Given the description of an element on the screen output the (x, y) to click on. 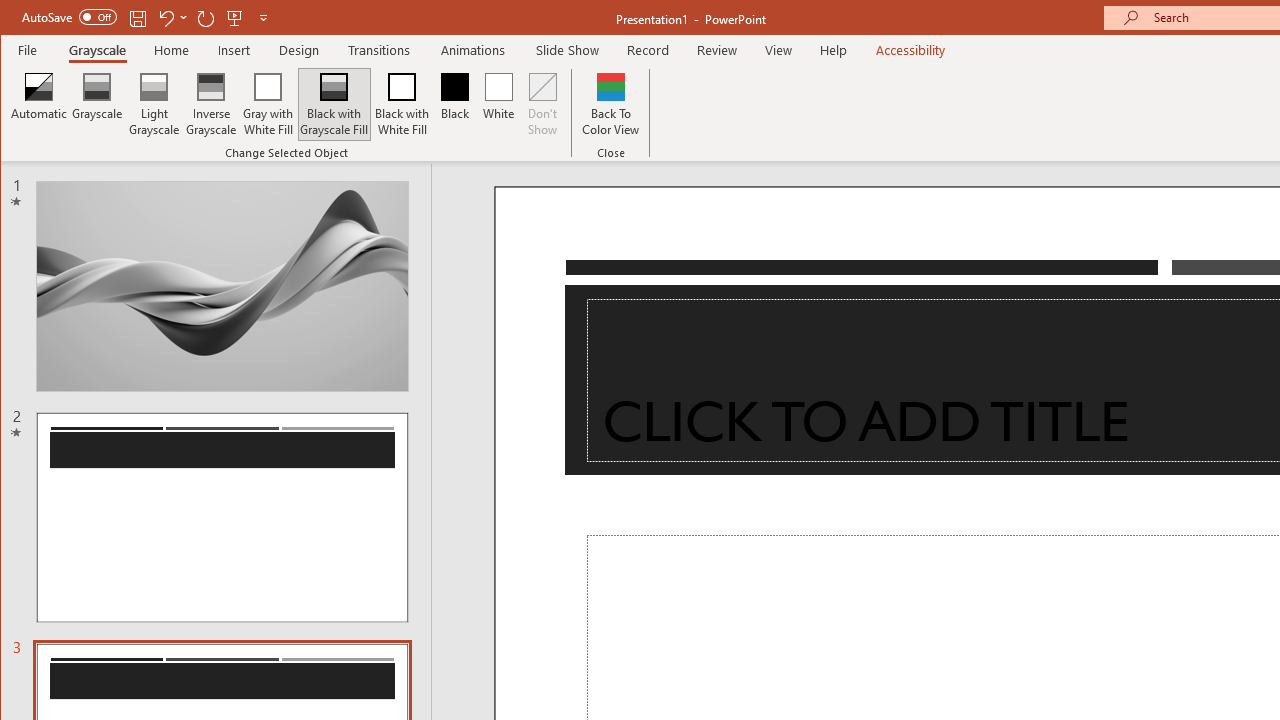
Black (454, 104)
Black with Grayscale Fill (334, 104)
Slide (222, 517)
Accessibility (910, 50)
Grayscale (97, 104)
